Given the description of an element on the screen output the (x, y) to click on. 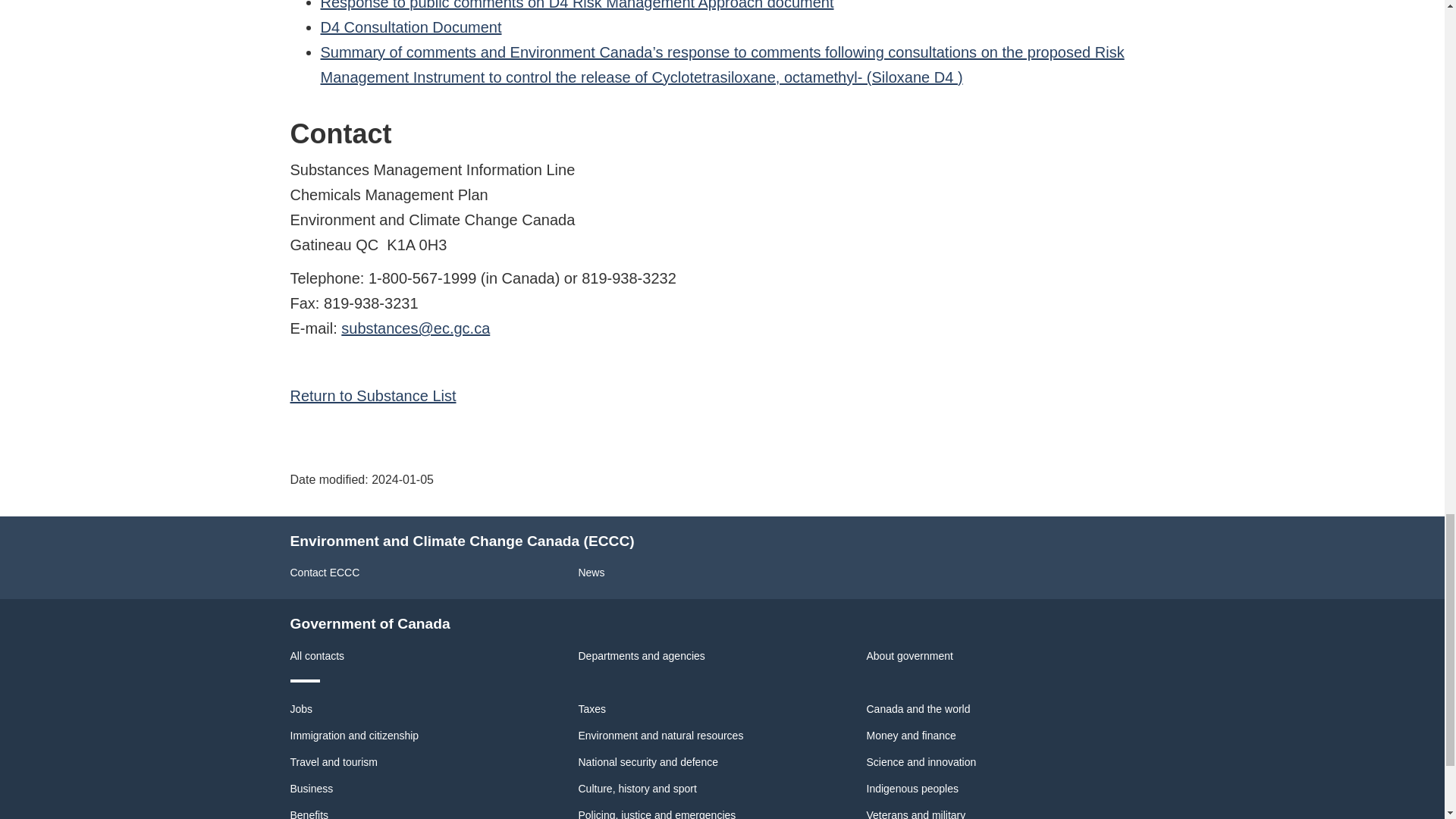
D4 Consultation Document (410, 27)
Return to Substance List (372, 395)
